Given the description of an element on the screen output the (x, y) to click on. 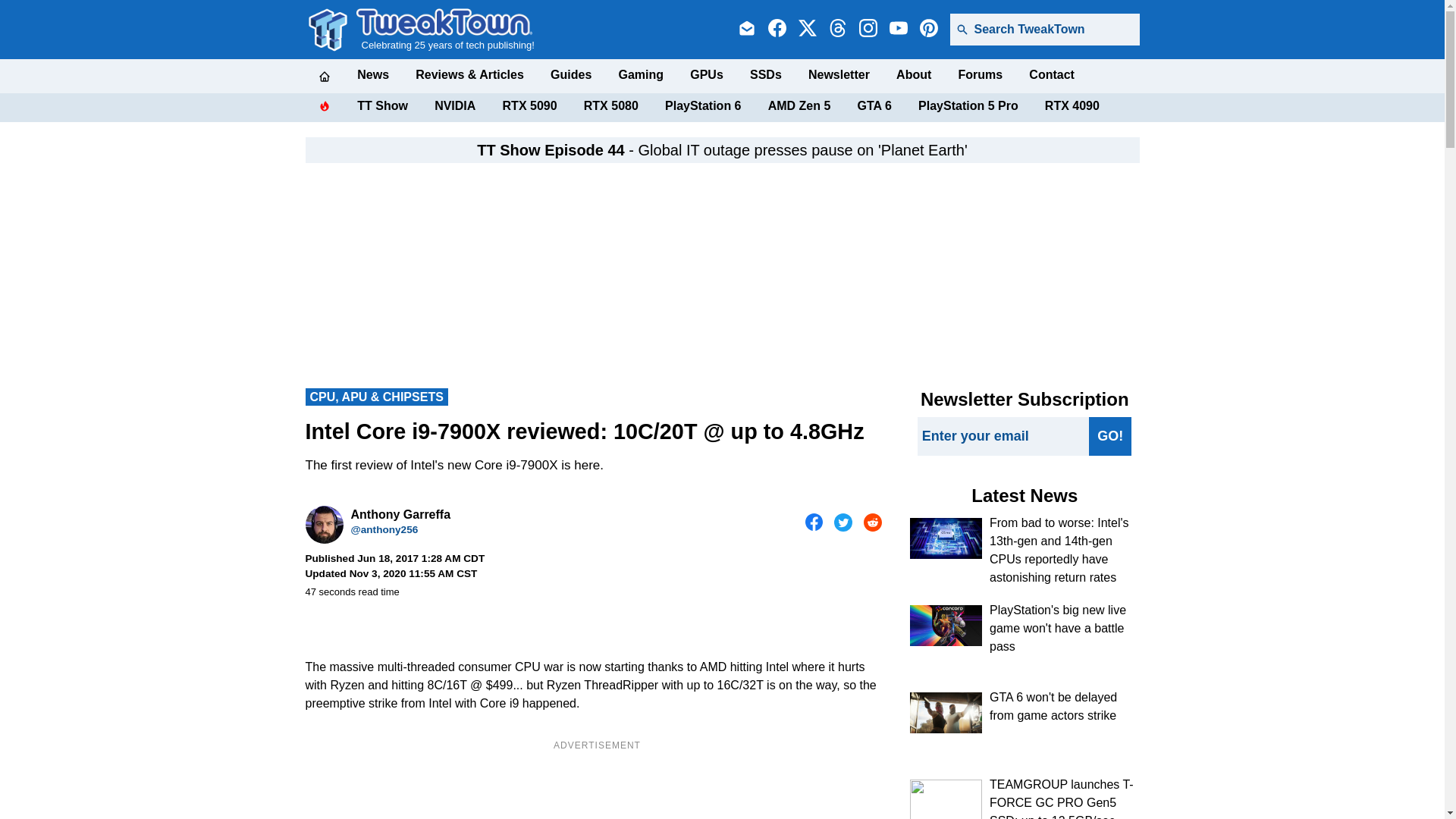
Share on Twitter (842, 522)
News (372, 74)
GO! (1110, 435)
Share on Reddit (871, 522)
Share on Facebook (814, 522)
Celebrating 25 years of tech publishing! (445, 29)
